Given the description of an element on the screen output the (x, y) to click on. 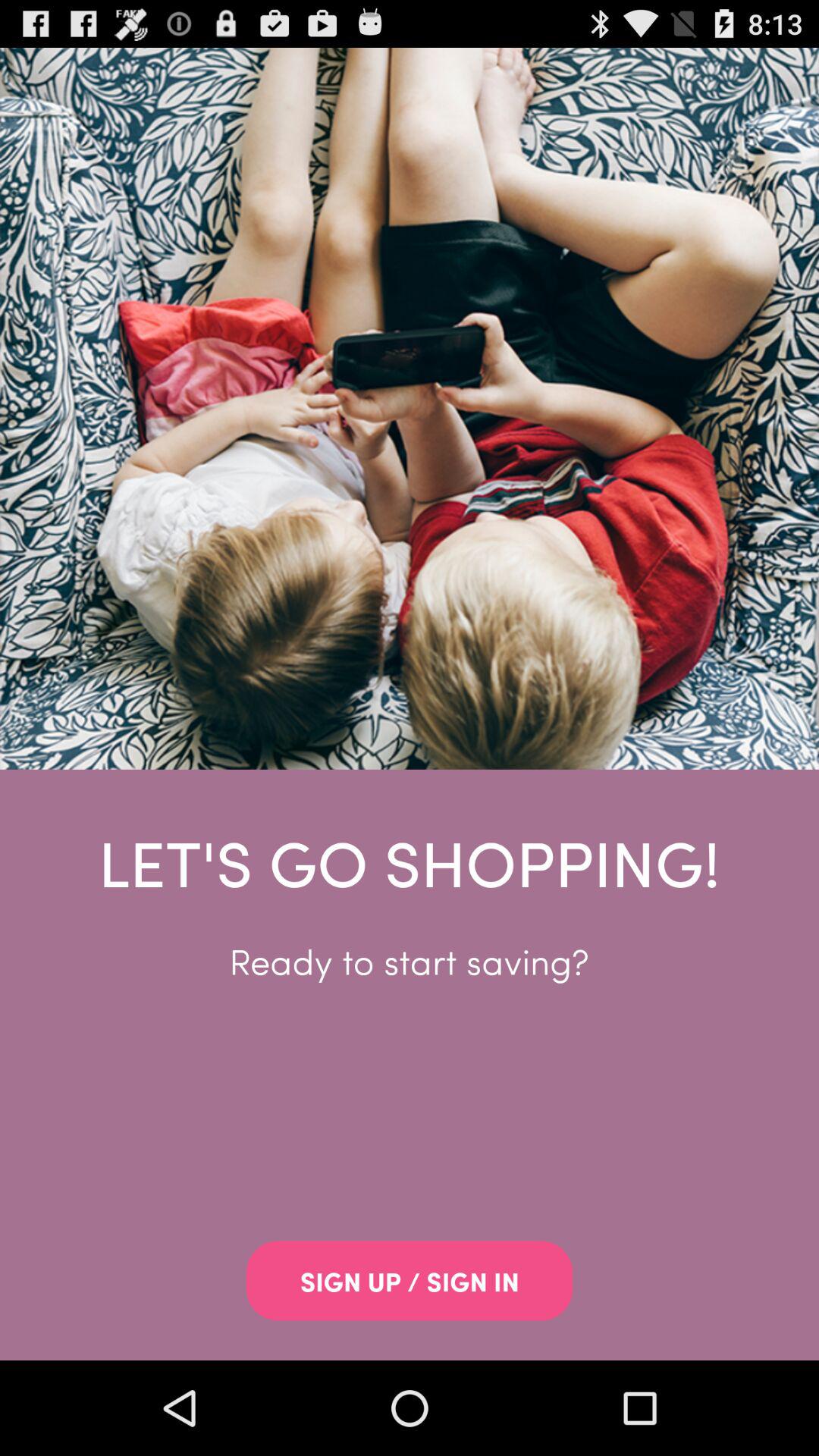
open sign up sign icon (409, 1280)
